Given the description of an element on the screen output the (x, y) to click on. 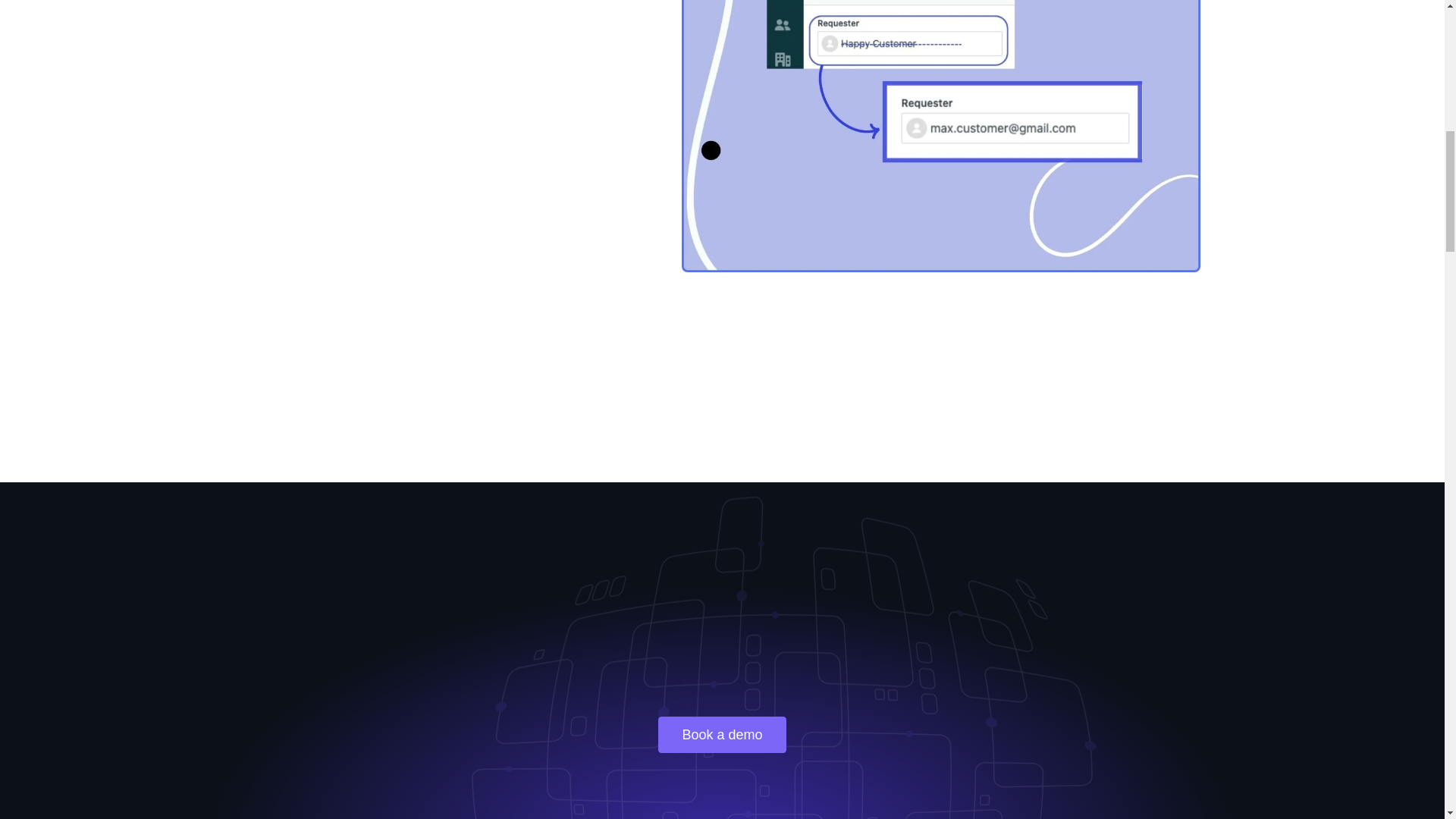
Book a demo (722, 734)
